Given the description of an element on the screen output the (x, y) to click on. 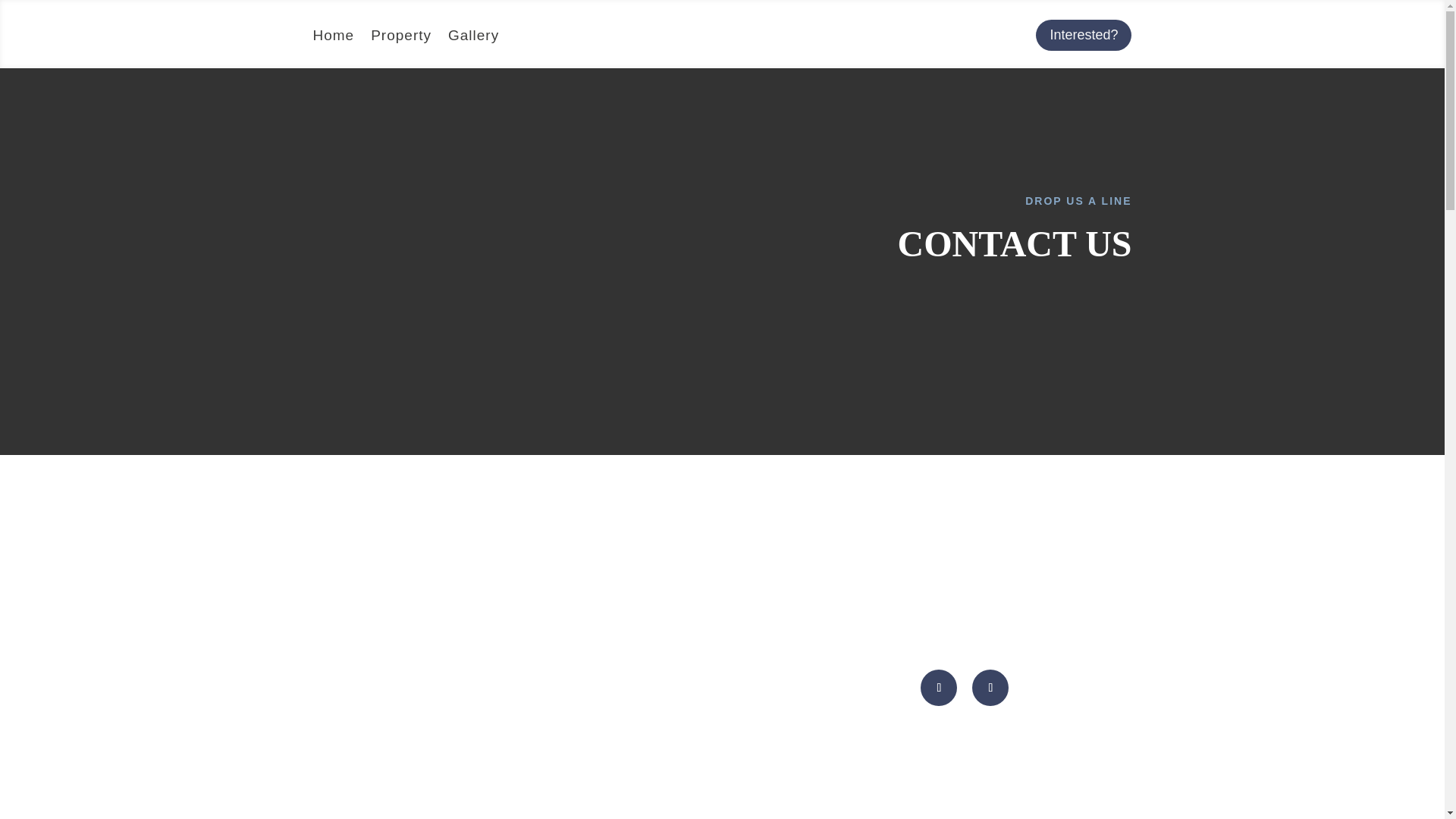
Follow on Instagram (990, 687)
Interested? (1083, 34)
Follow on Facebook (938, 687)
Gallery (473, 38)
Home (333, 38)
Property (400, 38)
